Given the description of an element on the screen output the (x, y) to click on. 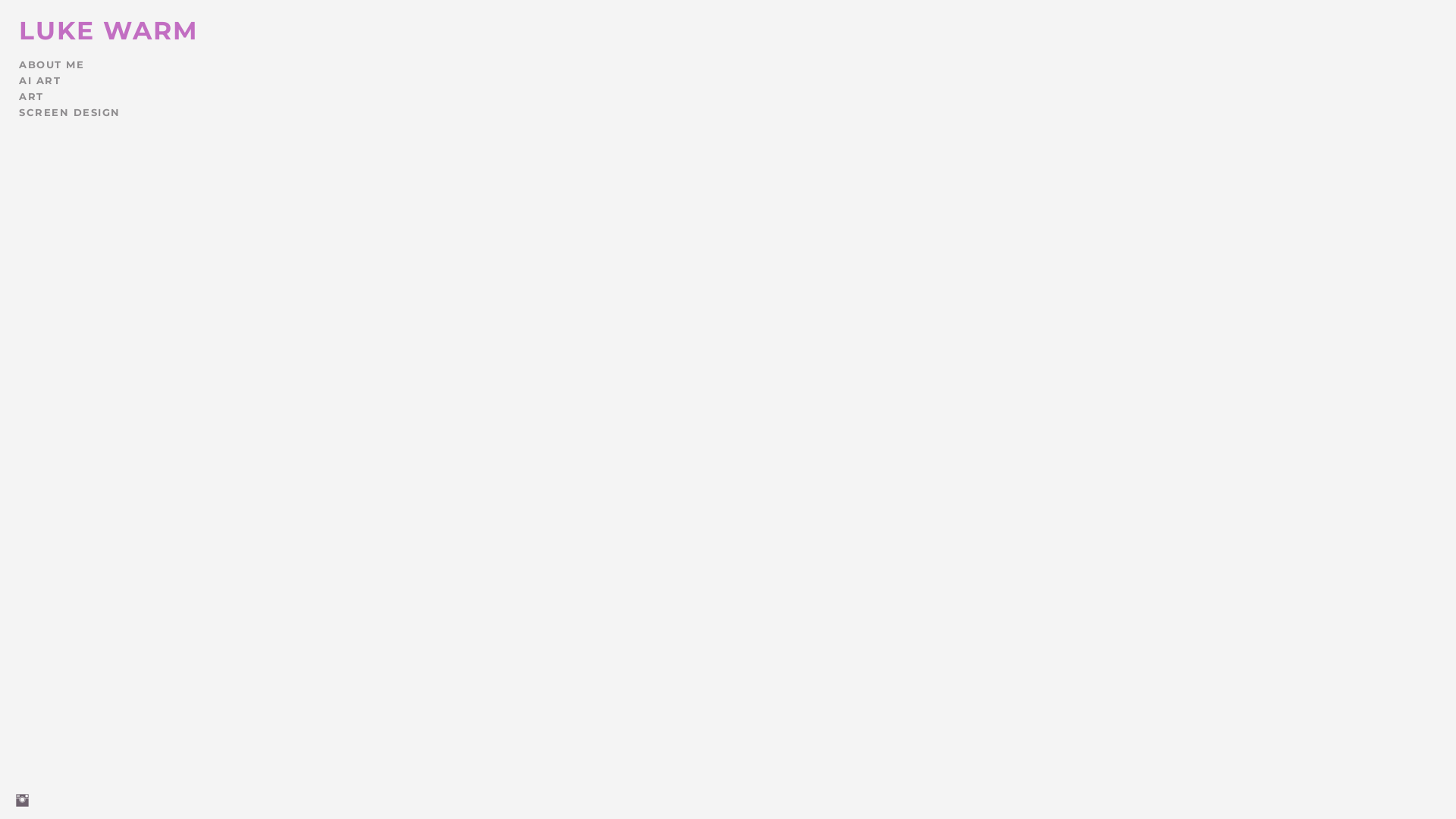
SCREEN DESIGN Element type: text (69, 112)
ABOUT ME Element type: text (51, 64)
LUKE WARM Element type: text (108, 30)
AI ART Element type: text (39, 80)
ART Element type: text (30, 96)
